Given the description of an element on the screen output the (x, y) to click on. 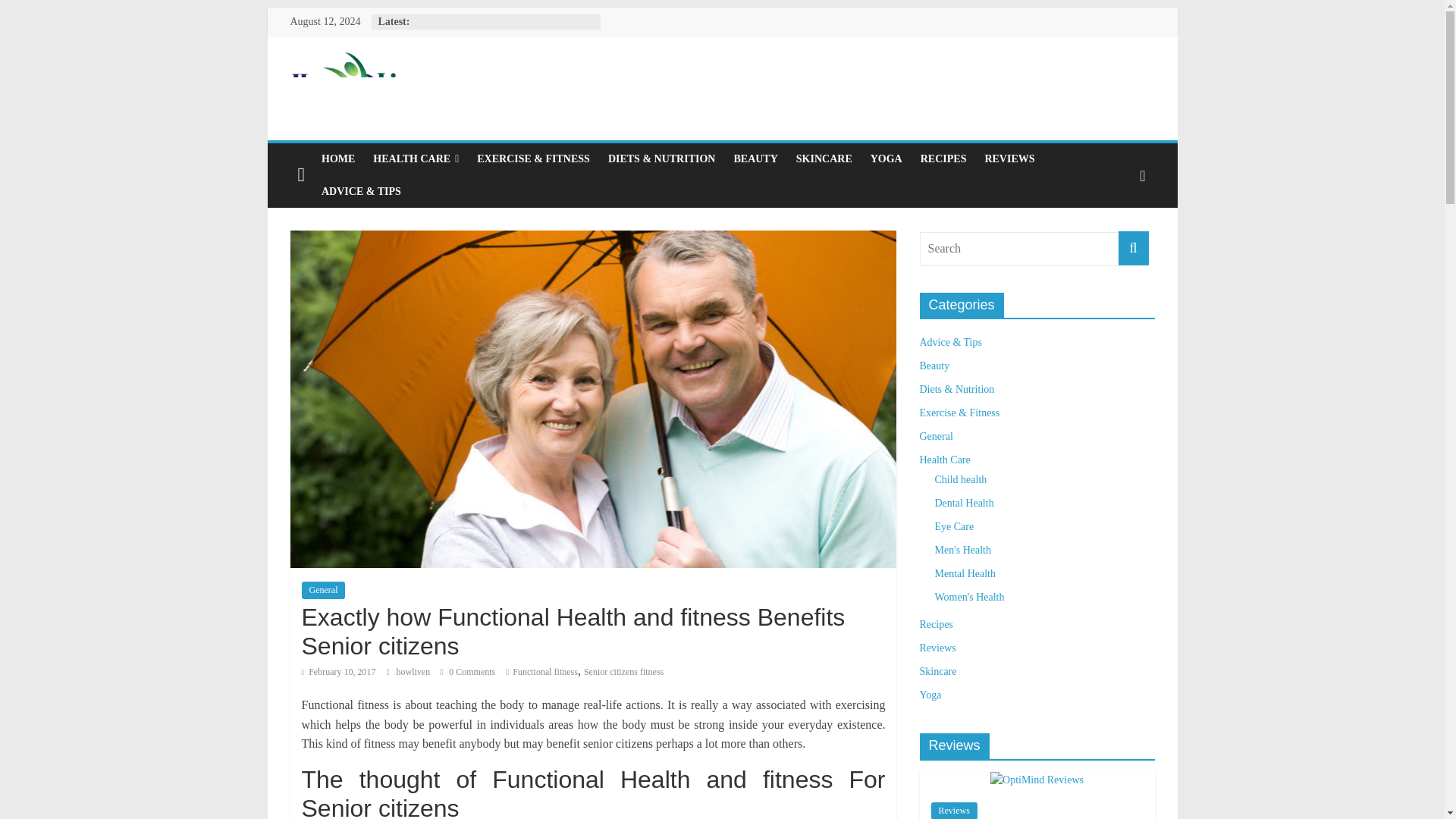
HEALTH CARE (415, 159)
YOGA (886, 159)
0 Comments (467, 671)
BEAUTY (754, 159)
howliven (414, 671)
February 10, 2017 (338, 671)
Functional fitness (545, 671)
HOME (338, 159)
RECIPES (943, 159)
howliven (414, 671)
